Given the description of an element on the screen output the (x, y) to click on. 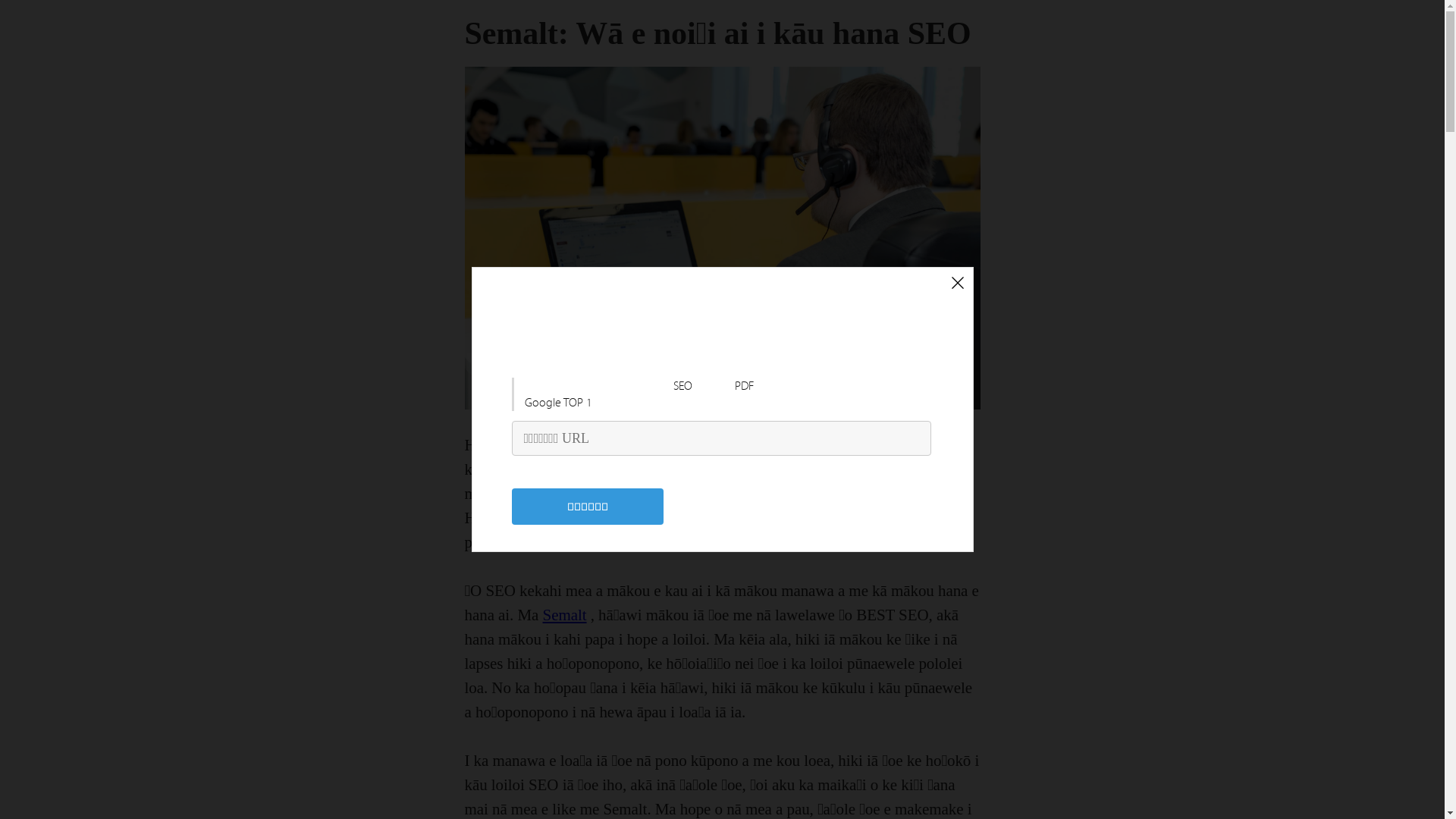
Semalt Element type: text (564, 614)
